Given the description of an element on the screen output the (x, y) to click on. 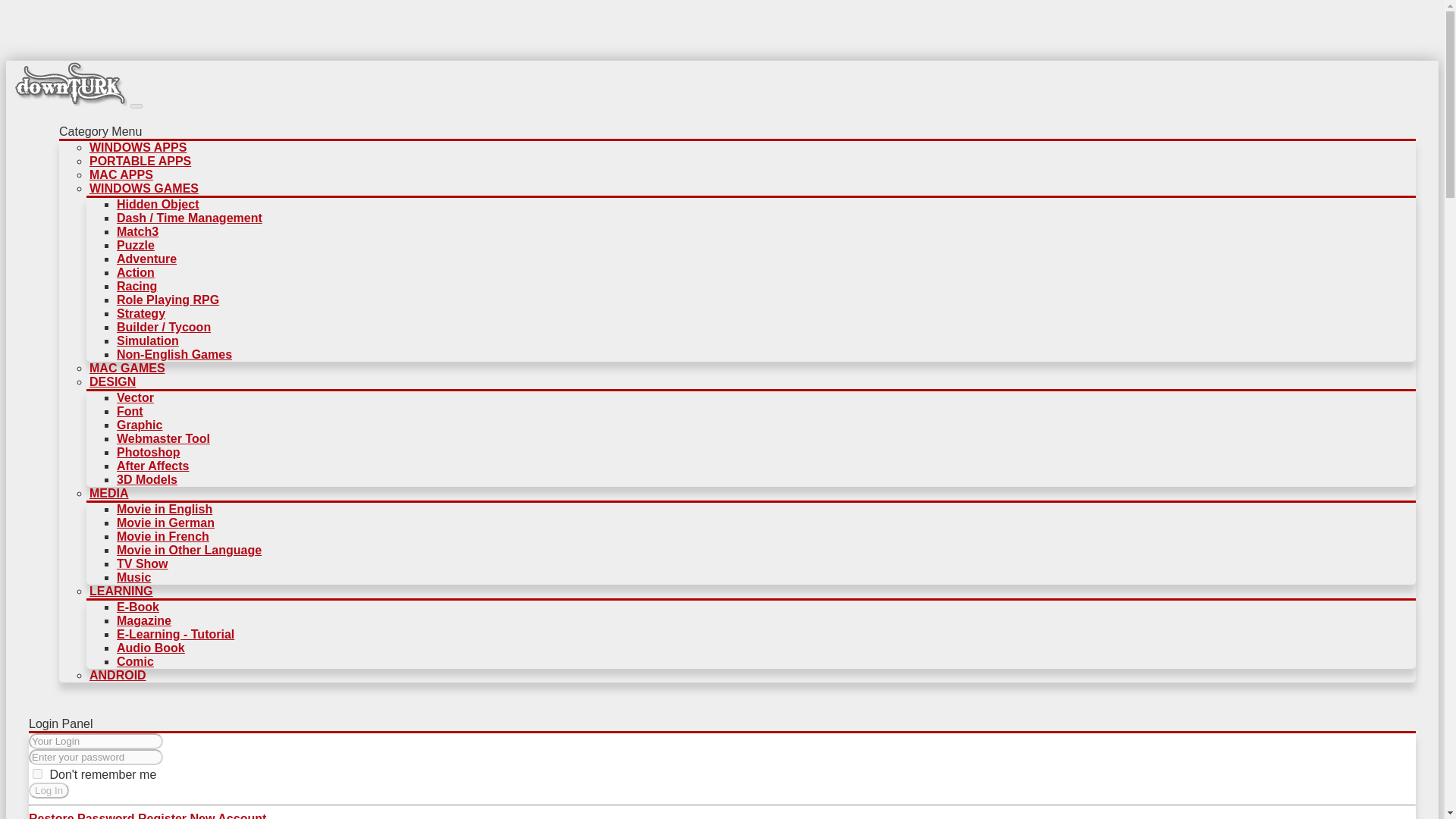
Movie in German (165, 522)
Graphic (138, 424)
Racing (136, 286)
DESIGN (111, 381)
MEDIA (108, 492)
E-Book (137, 606)
Match3 (137, 231)
Comic (135, 661)
Action (135, 272)
Webmaster Tool (162, 438)
